Given the description of an element on the screen output the (x, y) to click on. 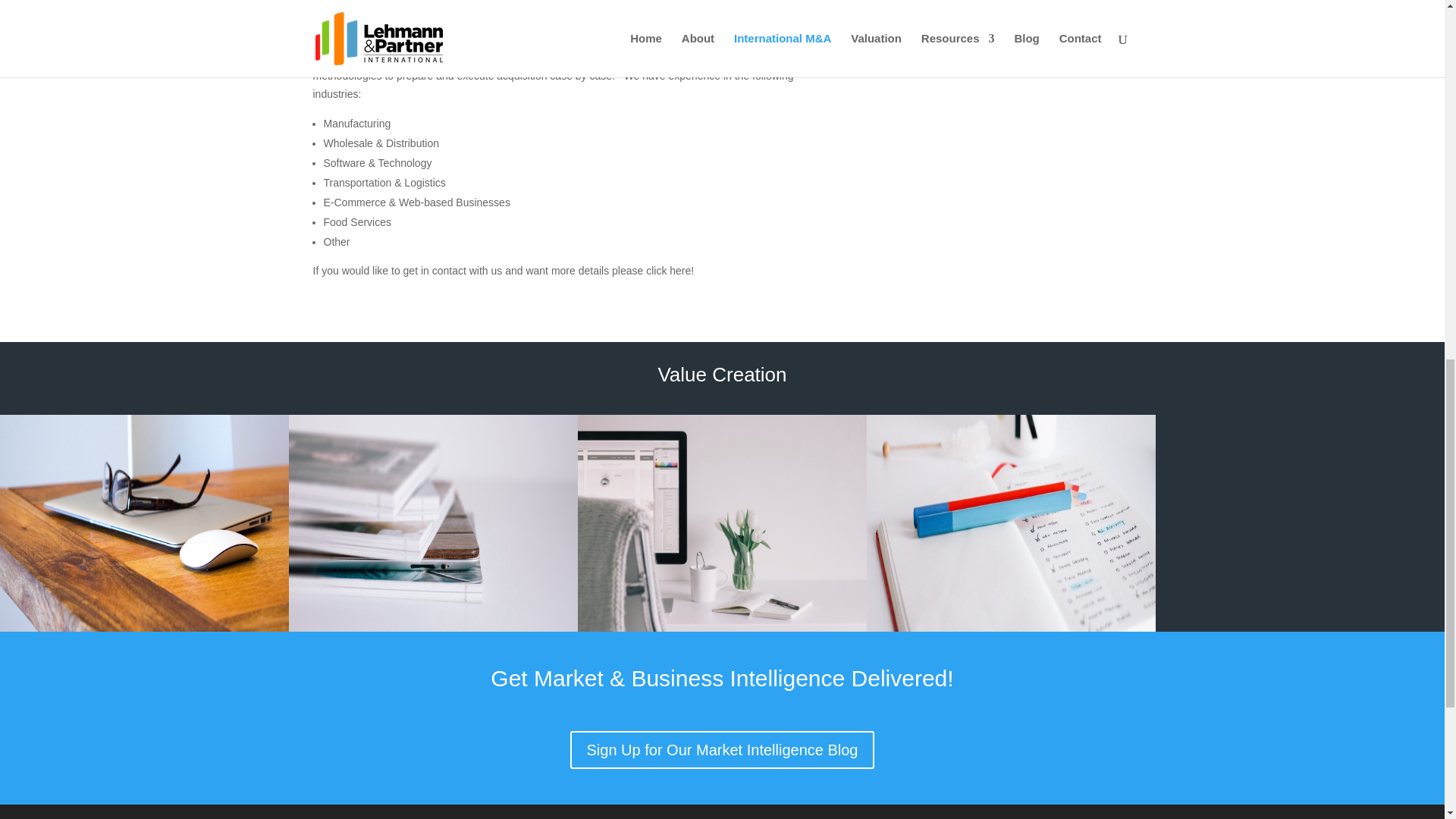
Sign Up for Our Market Intelligence Blog (722, 750)
Exit Strategy Prep Form..... (1010, 13)
